Given the description of an element on the screen output the (x, y) to click on. 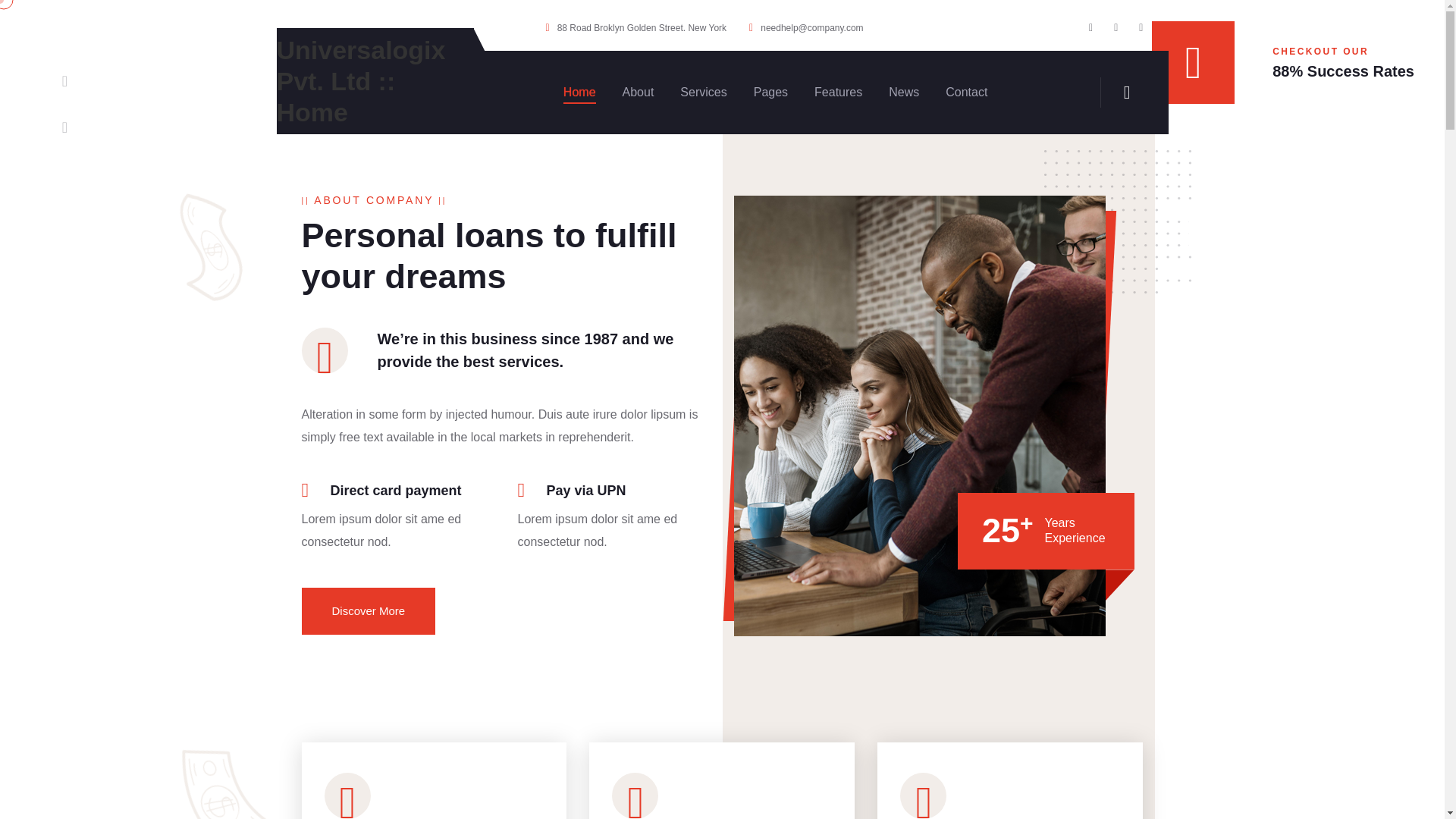
Features (837, 92)
Services (702, 92)
88 Road Broklyn Golden Street. New York (636, 28)
Contact (965, 92)
Universalogix Pvt. Ltd :: Home (360, 81)
Pages (770, 92)
News (903, 92)
Home (579, 92)
About (638, 92)
